Given the description of an element on the screen output the (x, y) to click on. 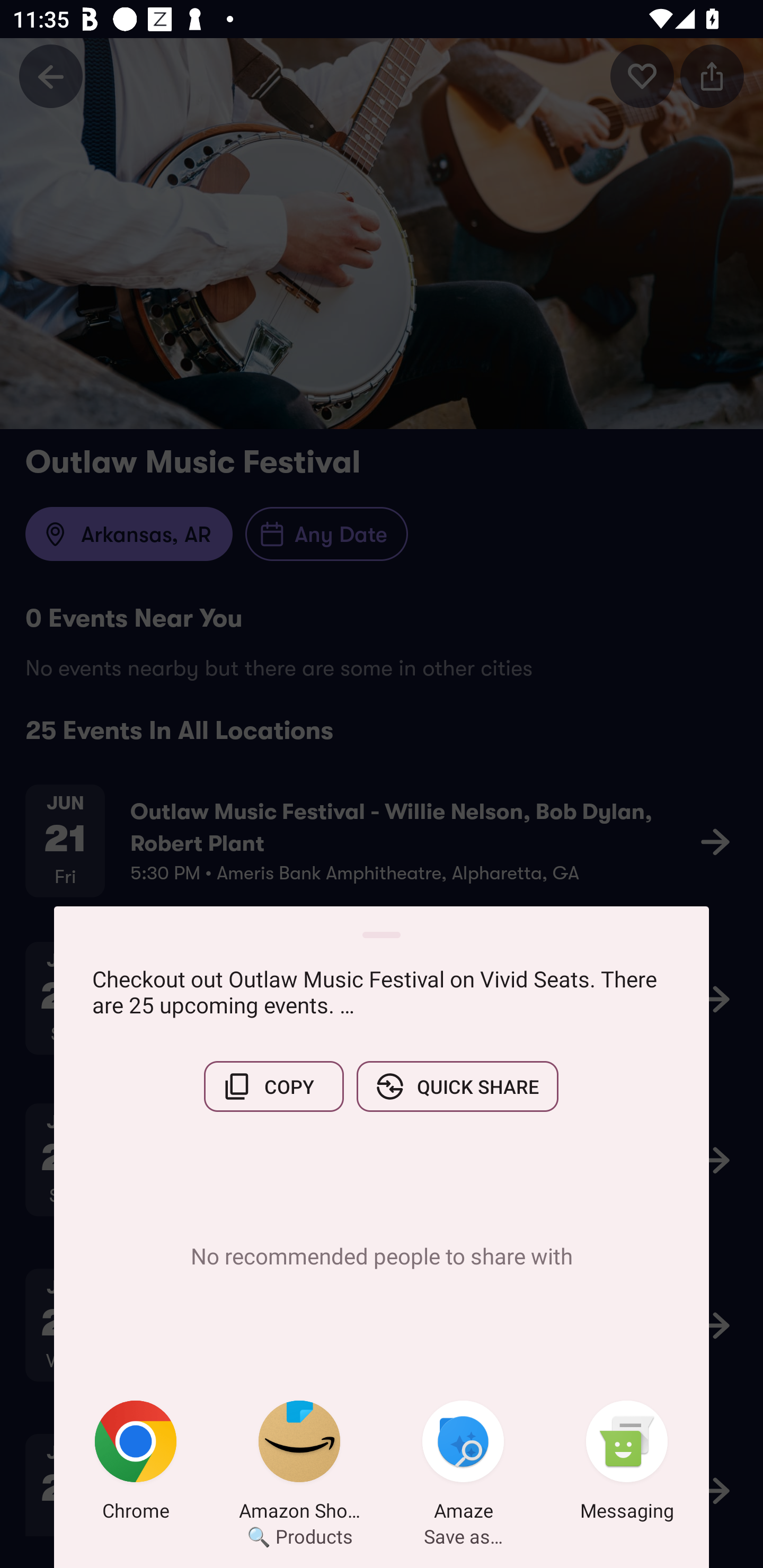
COPY (273, 1086)
QUICK SHARE (457, 1086)
Chrome (135, 1463)
Amazon Shopping 🔍 Products (299, 1463)
Amaze Save as… (463, 1463)
Messaging (626, 1463)
